Given the description of an element on the screen output the (x, y) to click on. 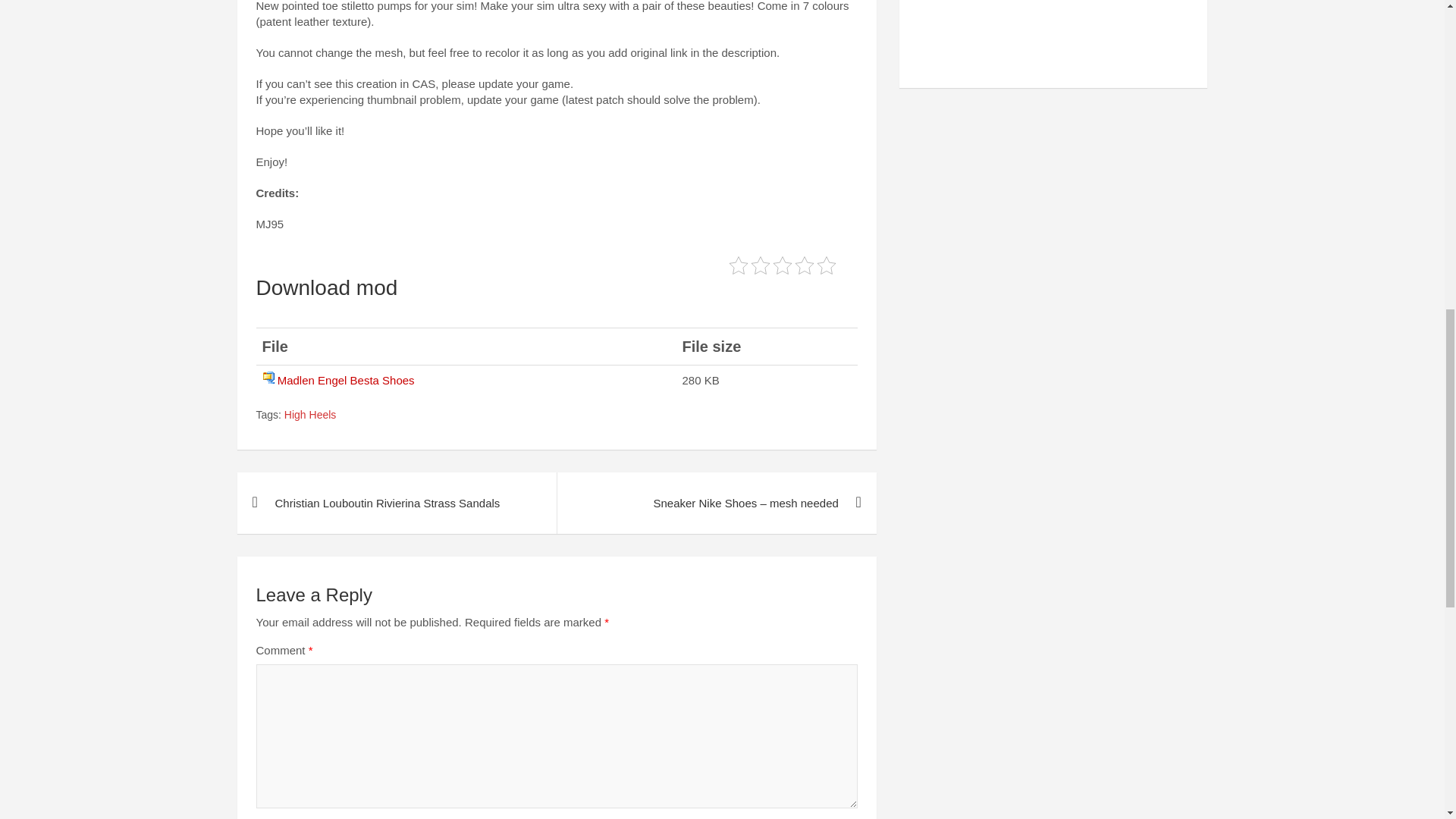
Madlen Engel Besta Shoes (346, 379)
Advertisement (1053, 38)
Christian Louboutin Rivierina Strass Sandals (395, 502)
High Heels (309, 415)
Madlen Engel Besta Shoes (346, 379)
